Given the description of an element on the screen output the (x, y) to click on. 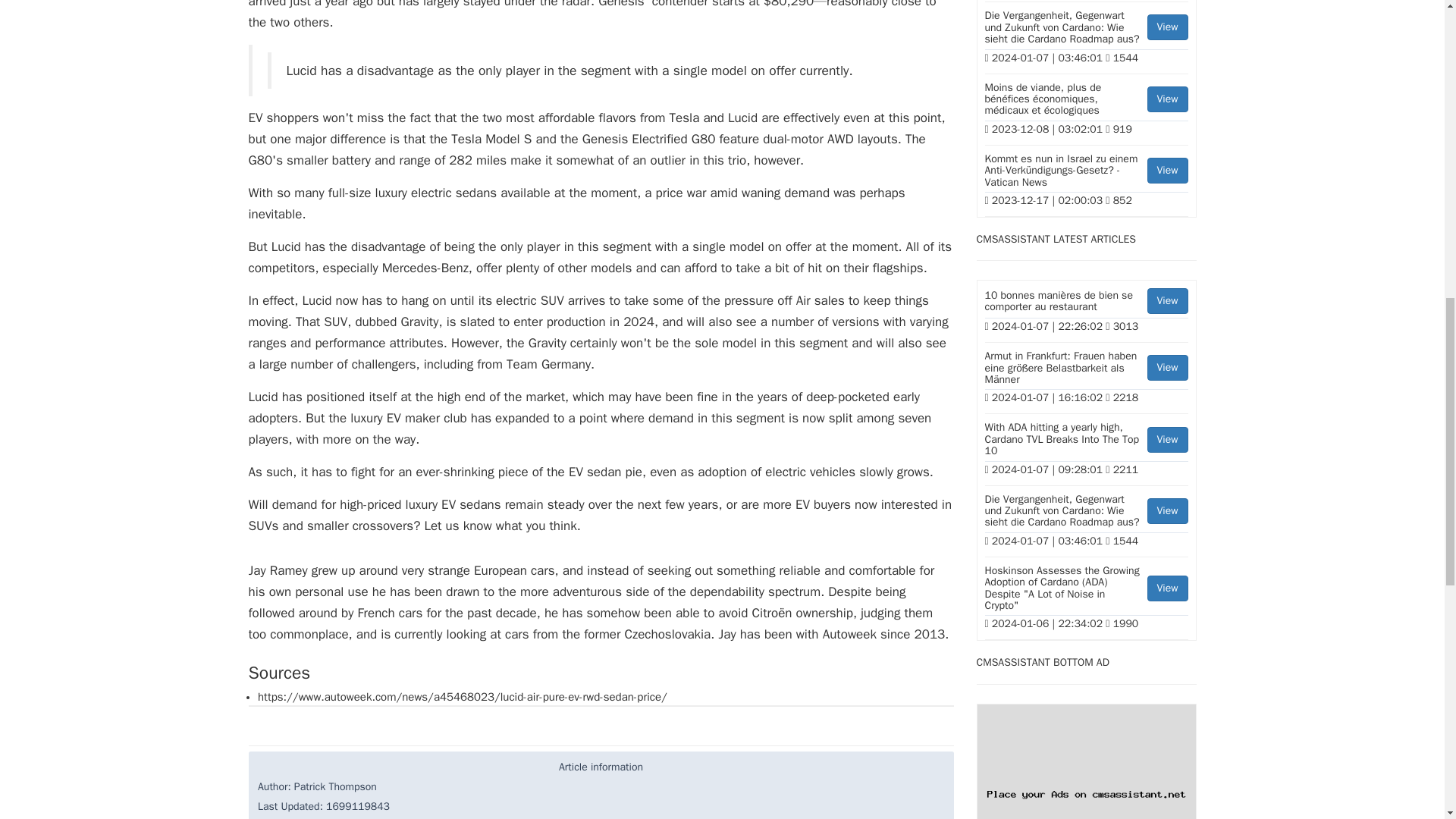
View (1167, 27)
View (1167, 439)
View (1167, 510)
View (1167, 99)
View (1167, 367)
View (1167, 300)
View (1167, 170)
View (1167, 588)
